Given the description of an element on the screen output the (x, y) to click on. 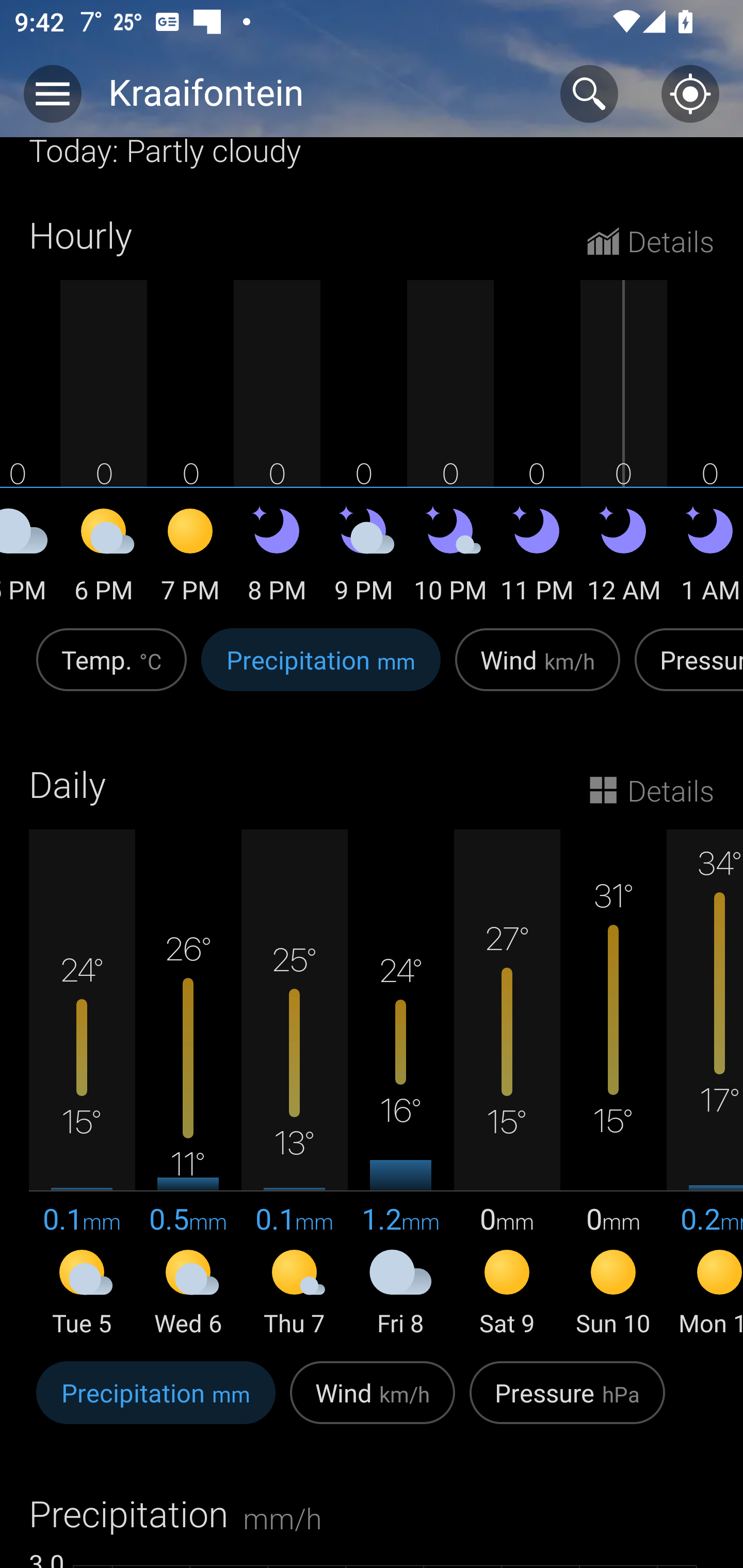
5 PM (30, 558)
6 PM (103, 558)
7 PM (190, 558)
8 PM (277, 558)
9 PM (363, 558)
10 PM (450, 558)
11 PM (537, 558)
12 AM (623, 558)
1 AM (705, 558)
Temp. °C (110, 669)
Precipitation mm (320, 669)
Wind km/h (537, 669)
Pressure (685, 669)
24° 15° 0.1 mm Tue 5 (81, 1084)
26° 11° 0.5 mm Wed 6 (188, 1084)
25° 13° 0.1 mm Thu 7 (294, 1084)
24° 16° 1.2 mm Fri 8 (400, 1084)
27° 15° 0 mm Sat 9 (506, 1084)
31° 15° 0 mm Sun 10 (613, 1084)
34° 17° 0.2 mm Mon 11 (704, 1084)
Precipitation mm (155, 1403)
Wind km/h (372, 1403)
Pressure hPa (567, 1403)
